Given the description of an element on the screen output the (x, y) to click on. 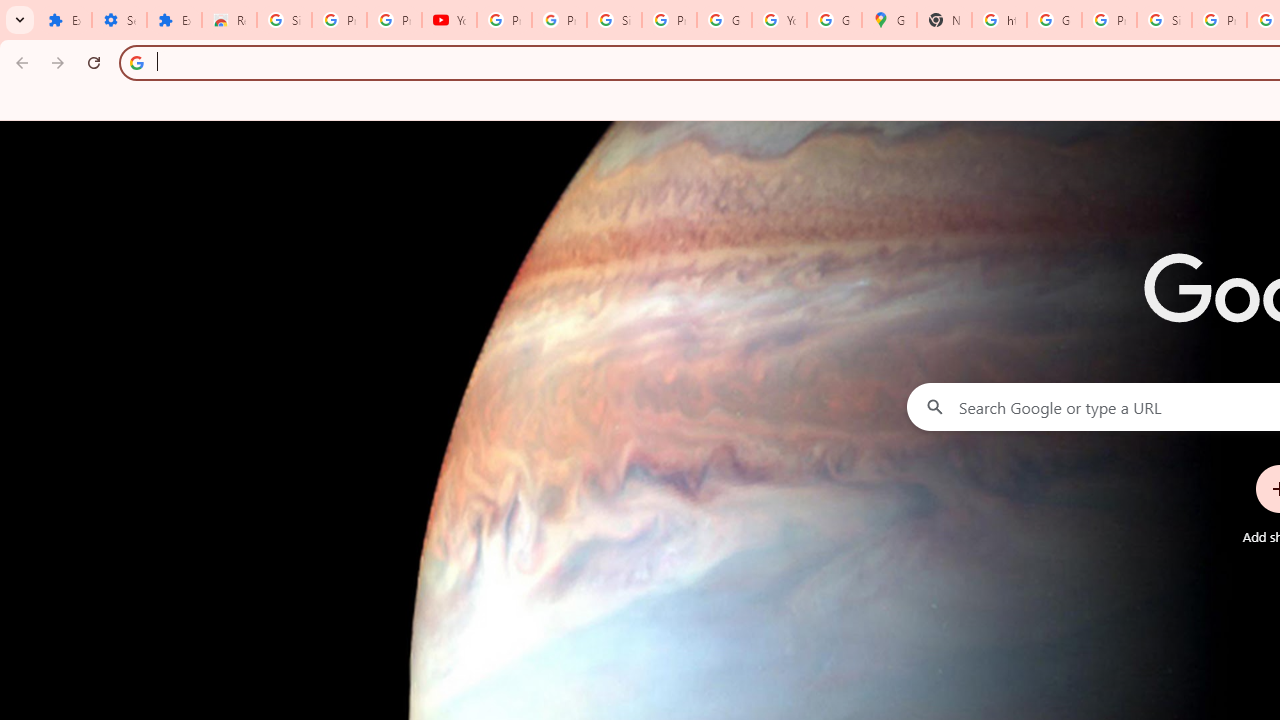
New Tab (943, 20)
Reviews: Helix Fruit Jump Arcade Game (229, 20)
Google Account (724, 20)
YouTube (779, 20)
Extensions (64, 20)
Google Maps (888, 20)
